Given the description of an element on the screen output the (x, y) to click on. 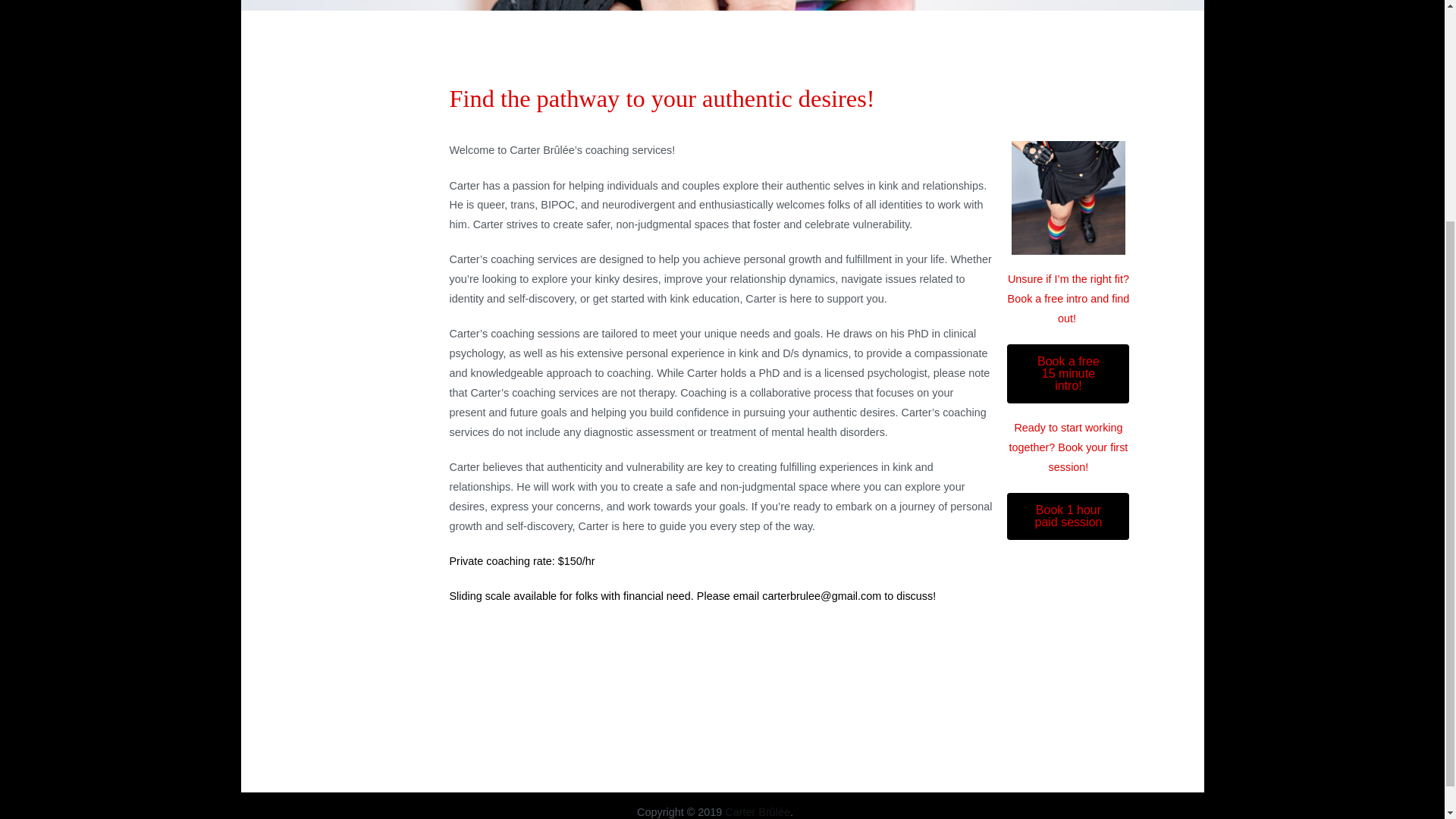
Book a free 15 minute intro! (1068, 373)
Book 1 hour paid session (1068, 516)
